Given the description of an element on the screen output the (x, y) to click on. 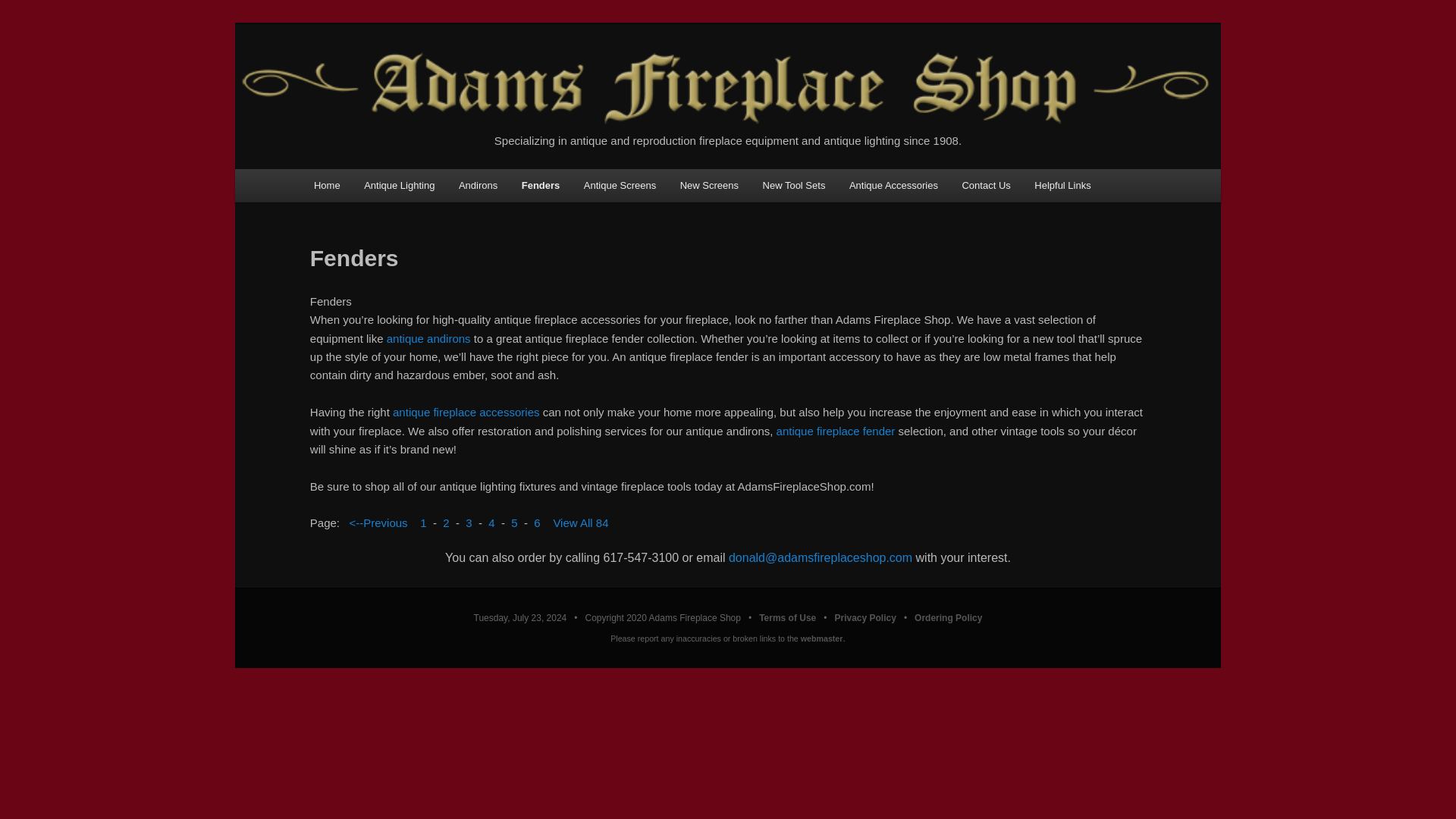
antique fireplace accessories (465, 411)
Skip to secondary content (389, 187)
Skip to secondary content (389, 187)
Antique Screens (620, 184)
3 (468, 522)
antique fireplace fender (835, 431)
2 (445, 522)
Helpful Links (1063, 184)
4 (491, 522)
1 (423, 522)
Antique Lighting (399, 184)
Contact Us (986, 184)
Home (326, 184)
New Tool Sets (794, 184)
antique andirons (428, 338)
